Given the description of an element on the screen output the (x, y) to click on. 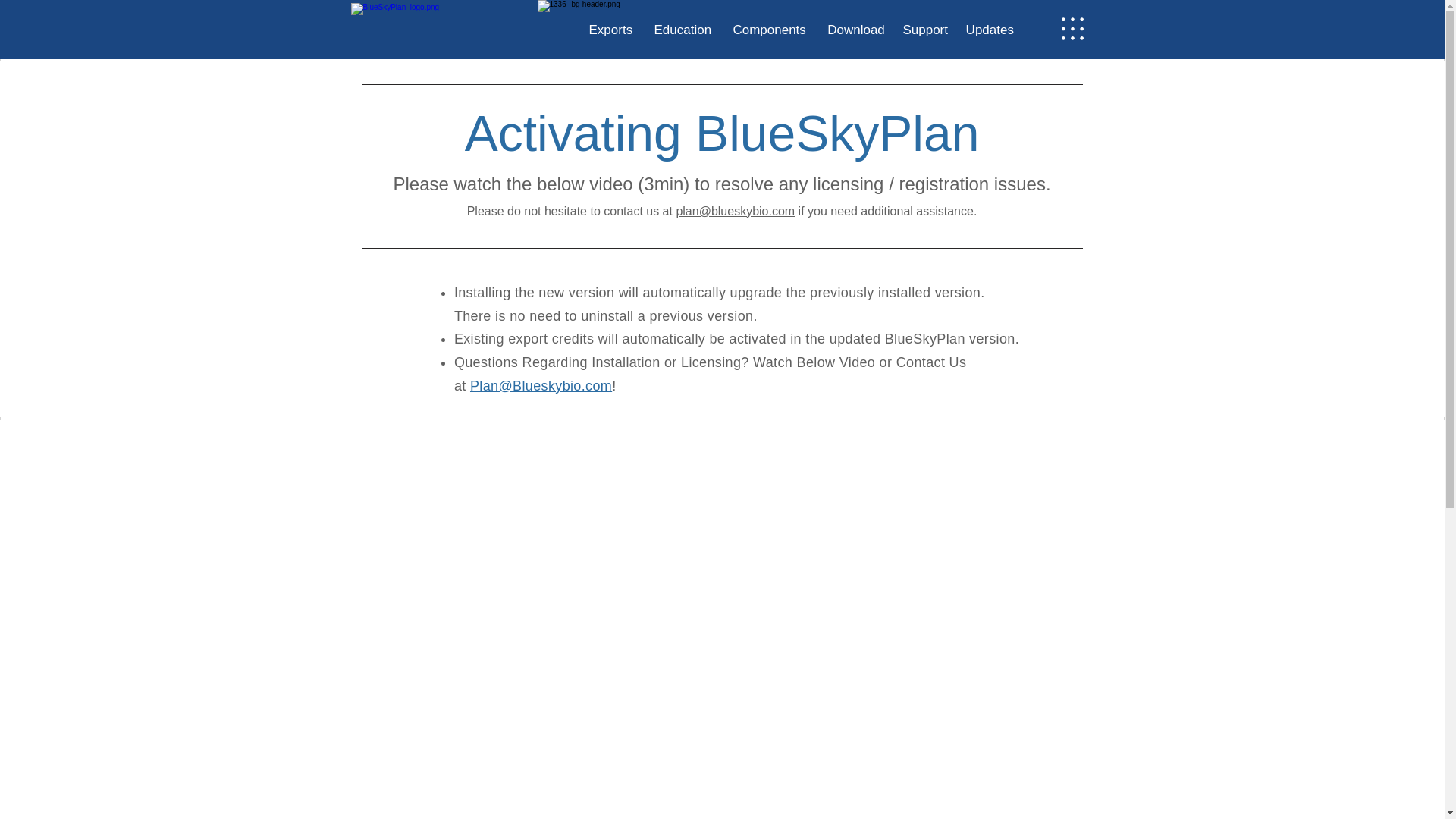
Components (770, 29)
Support      (933, 29)
Exports      (620, 29)
Updates (989, 29)
Education (682, 29)
Download      (864, 29)
